Given the description of an element on the screen output the (x, y) to click on. 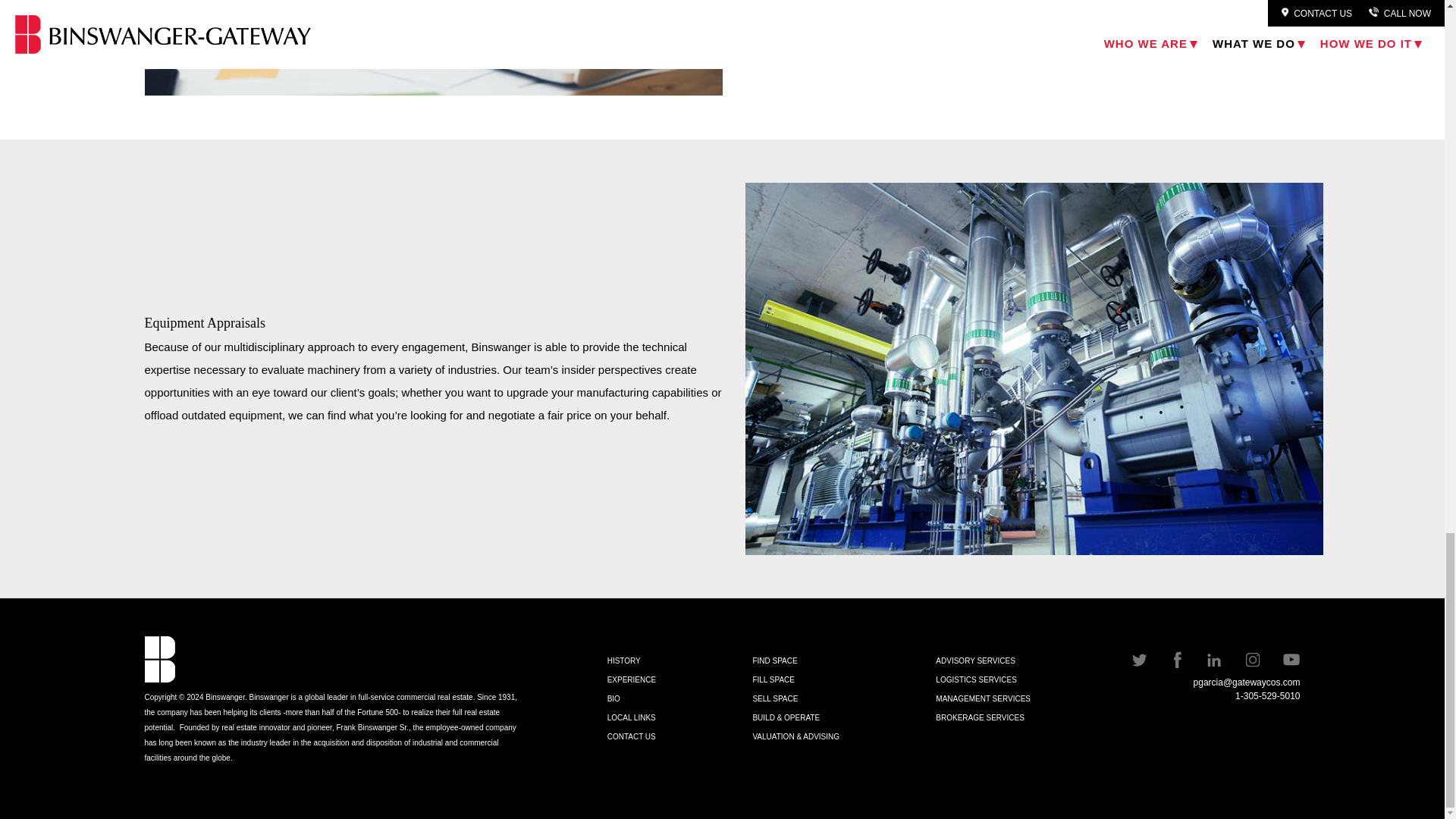
FILL SPACE (773, 679)
SELL SPACE (774, 698)
FIND SPACE (774, 660)
ADVISORY SERVICES (975, 660)
MANAGEMENT SERVICES (983, 698)
LOCAL LINKS (631, 717)
CONTACT US (631, 736)
LOGISTICS SERVICES (976, 679)
EXPERIENCE (631, 679)
BIO (613, 698)
BROKERAGE SERVICES (980, 717)
HISTORY (623, 660)
